Given the description of an element on the screen output the (x, y) to click on. 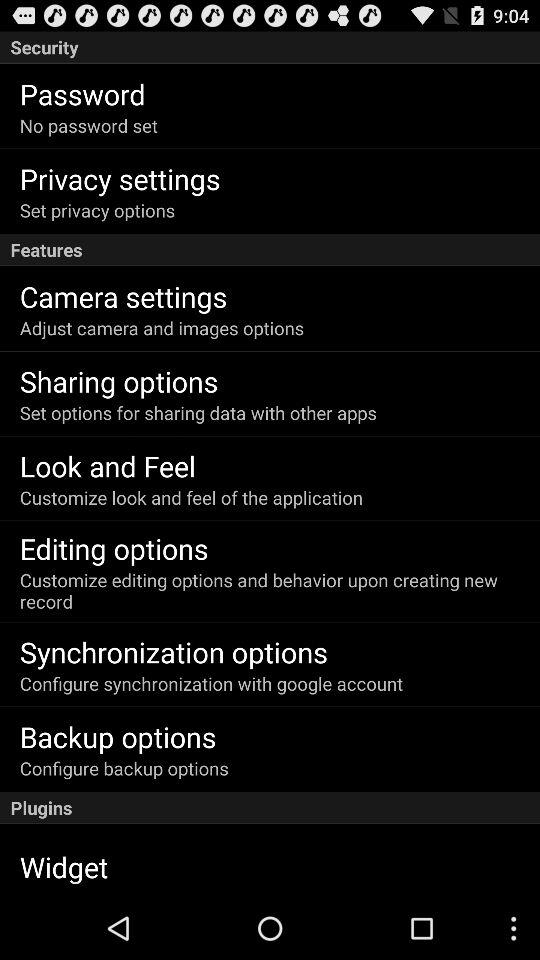
click the app above configure synchronization with (173, 651)
